Given the description of an element on the screen output the (x, y) to click on. 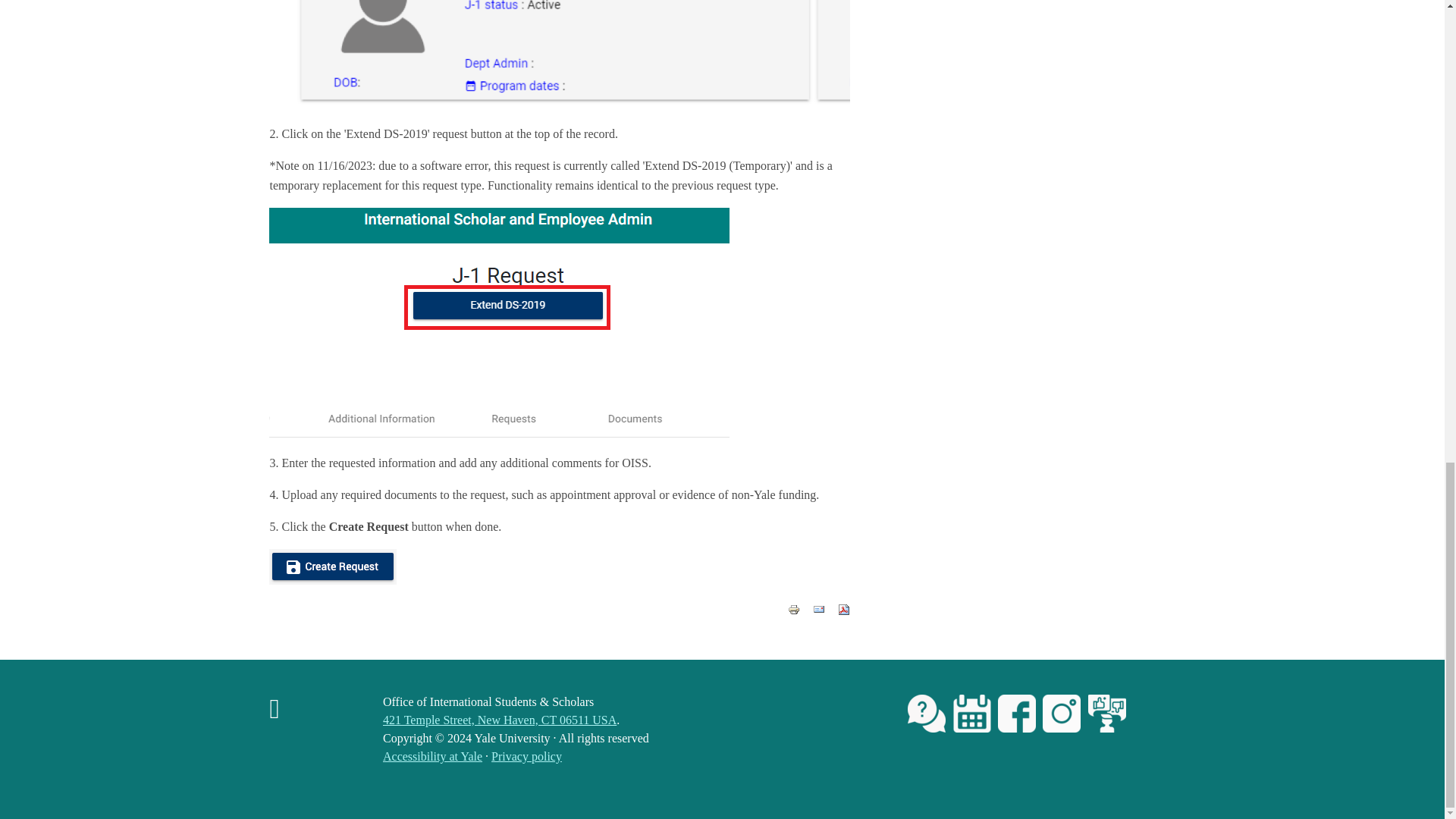
Save as PDF (844, 609)
Print-Friendly Version (793, 609)
421 Temple Street, New Haven, CT 06511 USA (498, 719)
Send by Email (818, 609)
